Given the description of an element on the screen output the (x, y) to click on. 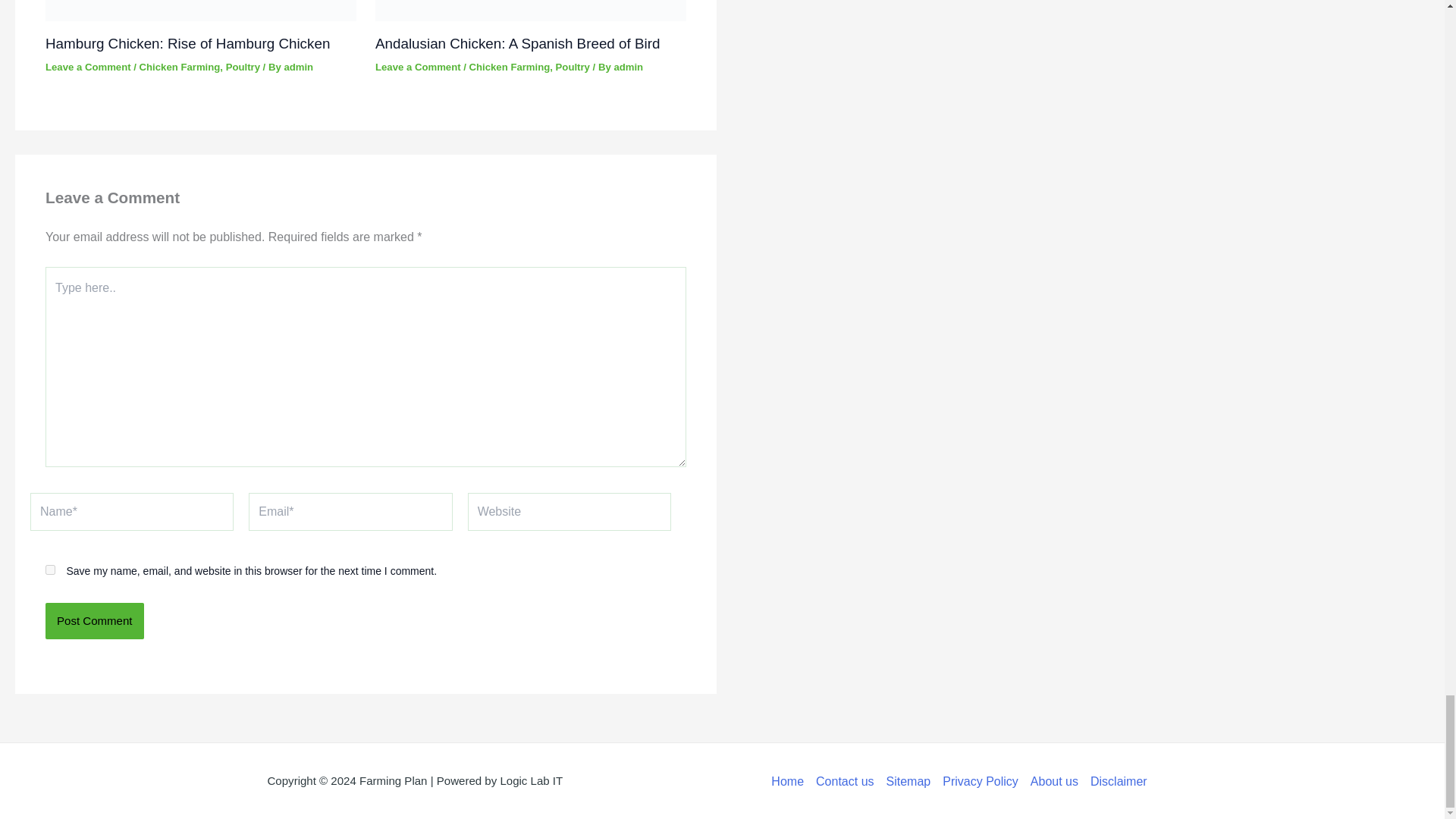
Post Comment (94, 620)
yes (50, 569)
View all posts by admin (298, 66)
View all posts by admin (627, 66)
